Given the description of an element on the screen output the (x, y) to click on. 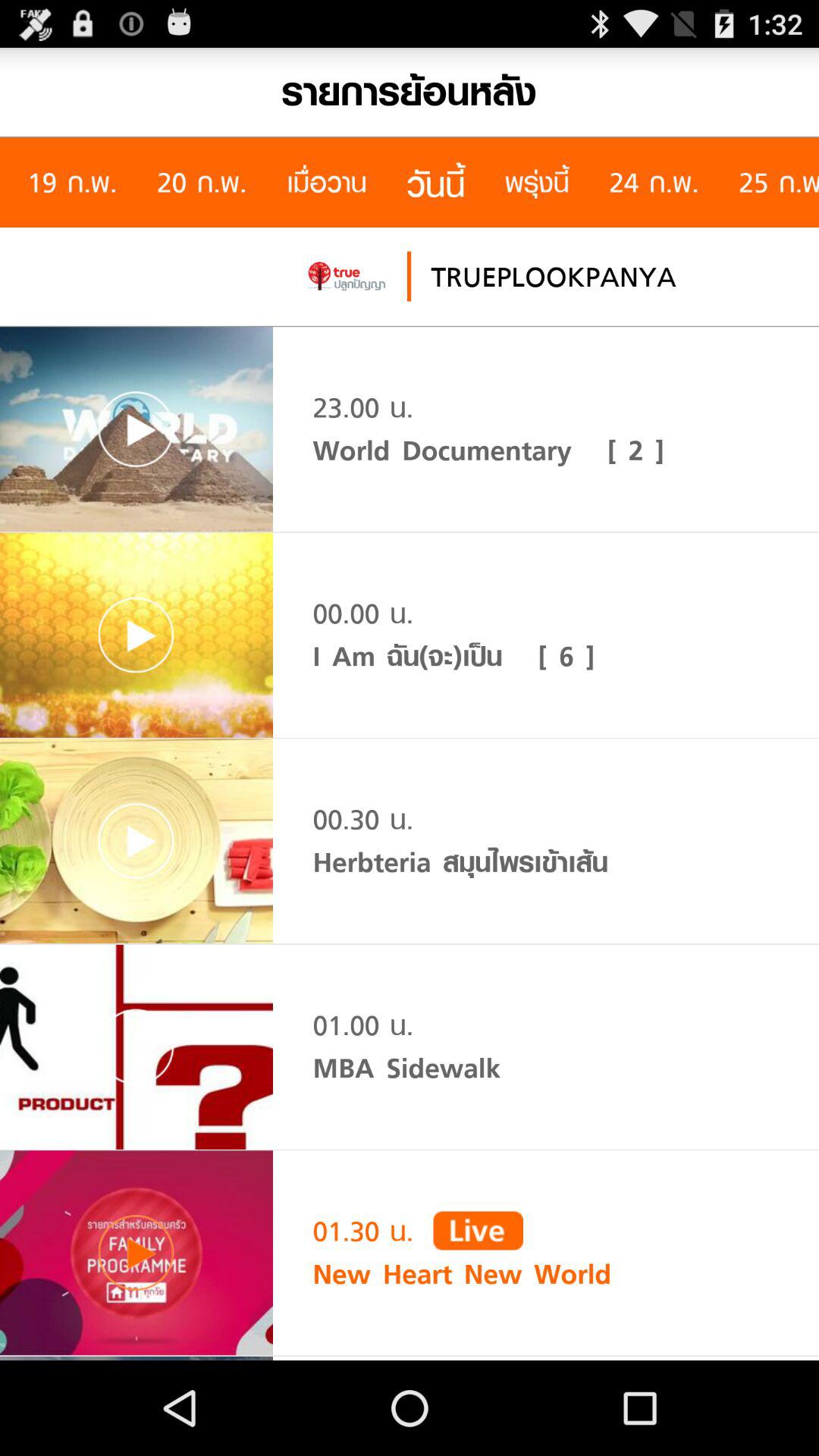
click world documentary   [ 2 ] icon (488, 450)
